Given the description of an element on the screen output the (x, y) to click on. 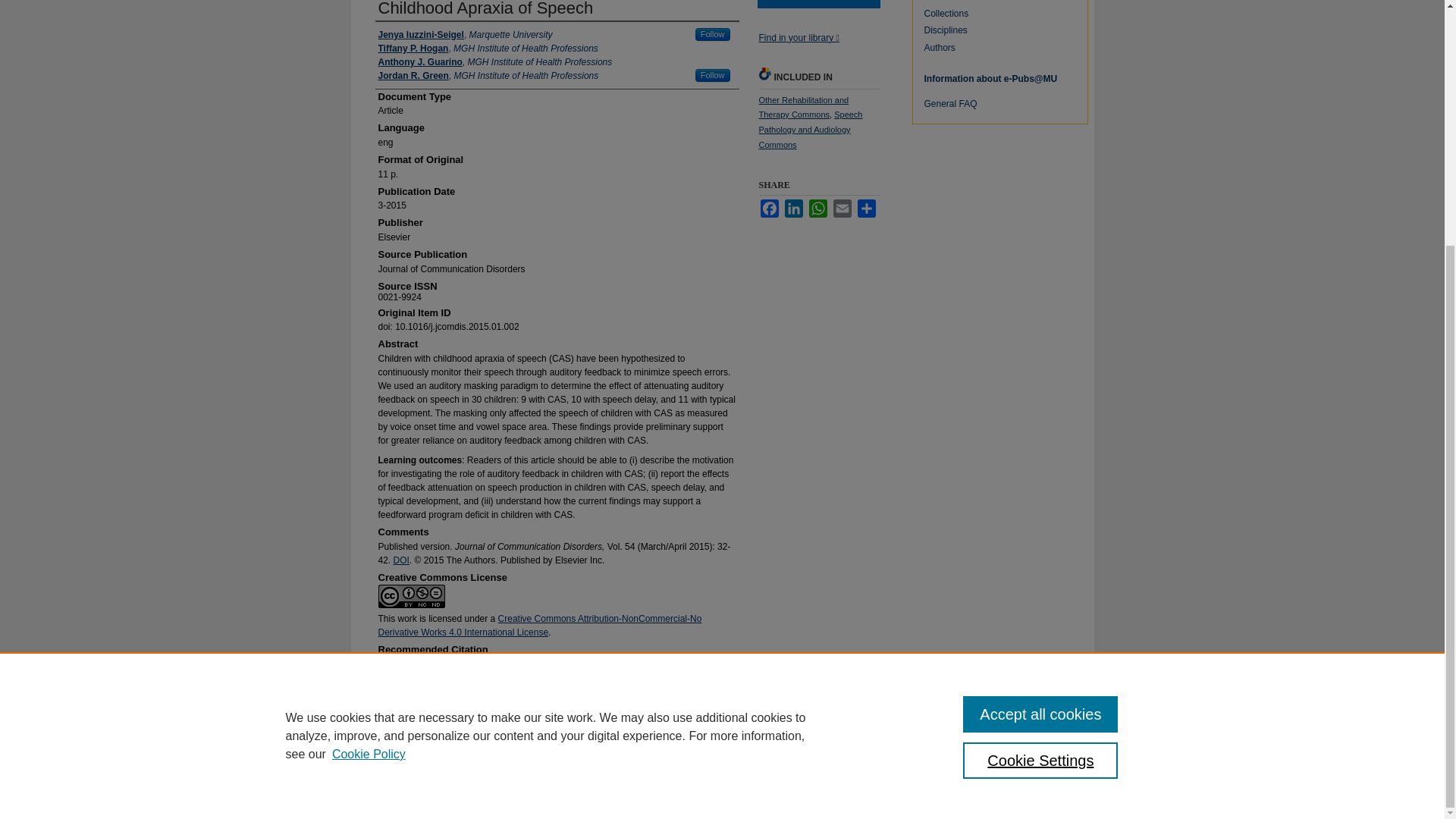
Other Rehabilitation and Therapy Commons (803, 107)
OpenURL (798, 37)
Jenya Iuzzini-Seigel, Marquette University (464, 34)
Jordan R. Green, MGH Institute of Health Professions (487, 75)
Speech Pathology and Audiology Commons (809, 129)
Tiffany P. Hogan, MGH Institute of Health Professions (486, 48)
Follow (712, 74)
LinkedIn (793, 208)
Speech Pathology and Audiology Commons (809, 129)
Follow (712, 33)
Anthony J. Guarino, MGH Institute of Health Professions (494, 61)
DOI (401, 560)
Download (818, 4)
Follow Jordan R. Green (712, 74)
